Given the description of an element on the screen output the (x, y) to click on. 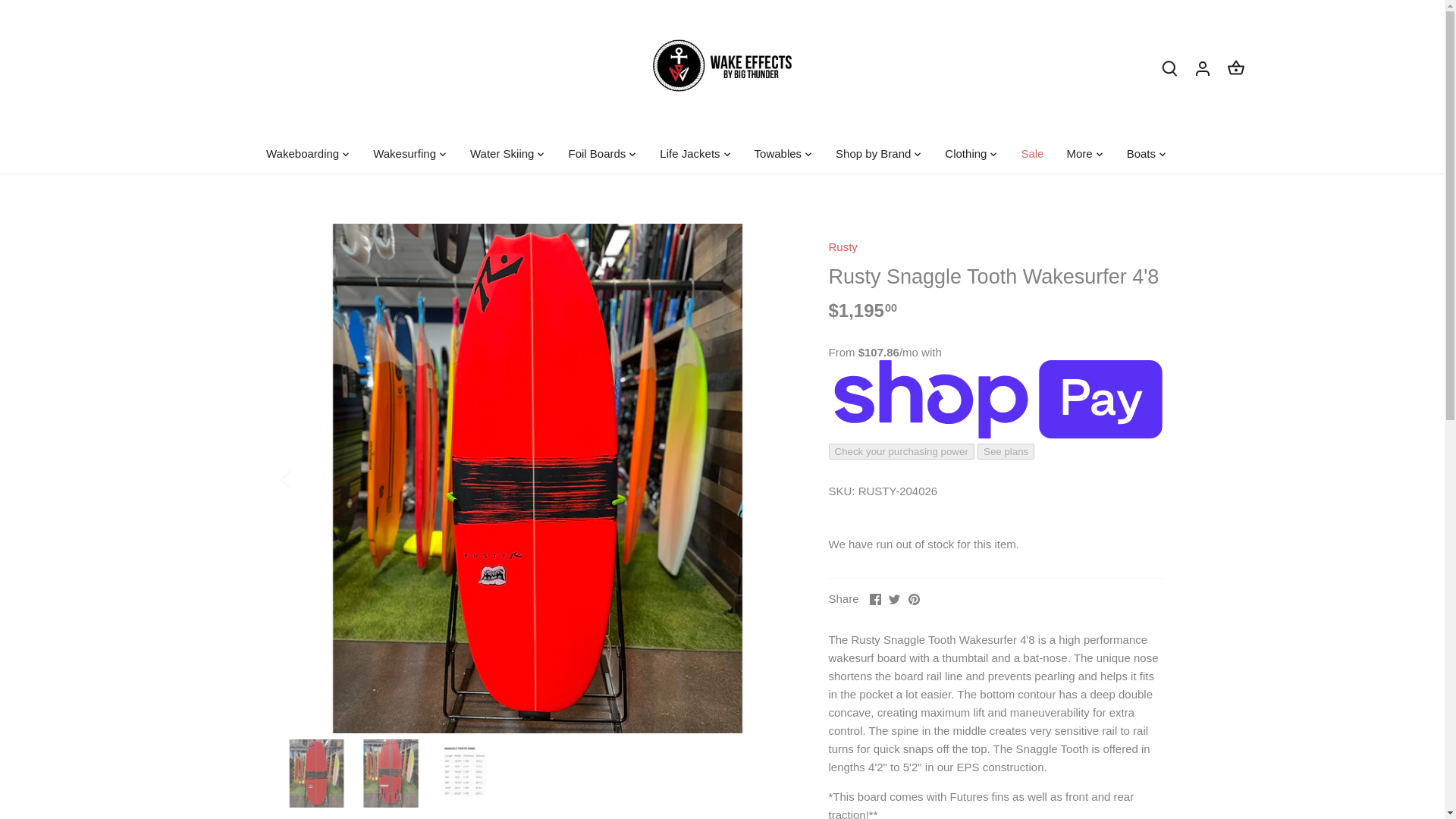
Pinterest (914, 599)
Facebook (874, 599)
Twitter (893, 599)
Wakeboarding (308, 153)
Water Skiing (501, 153)
Wakesurfing (403, 153)
